Given the description of an element on the screen output the (x, y) to click on. 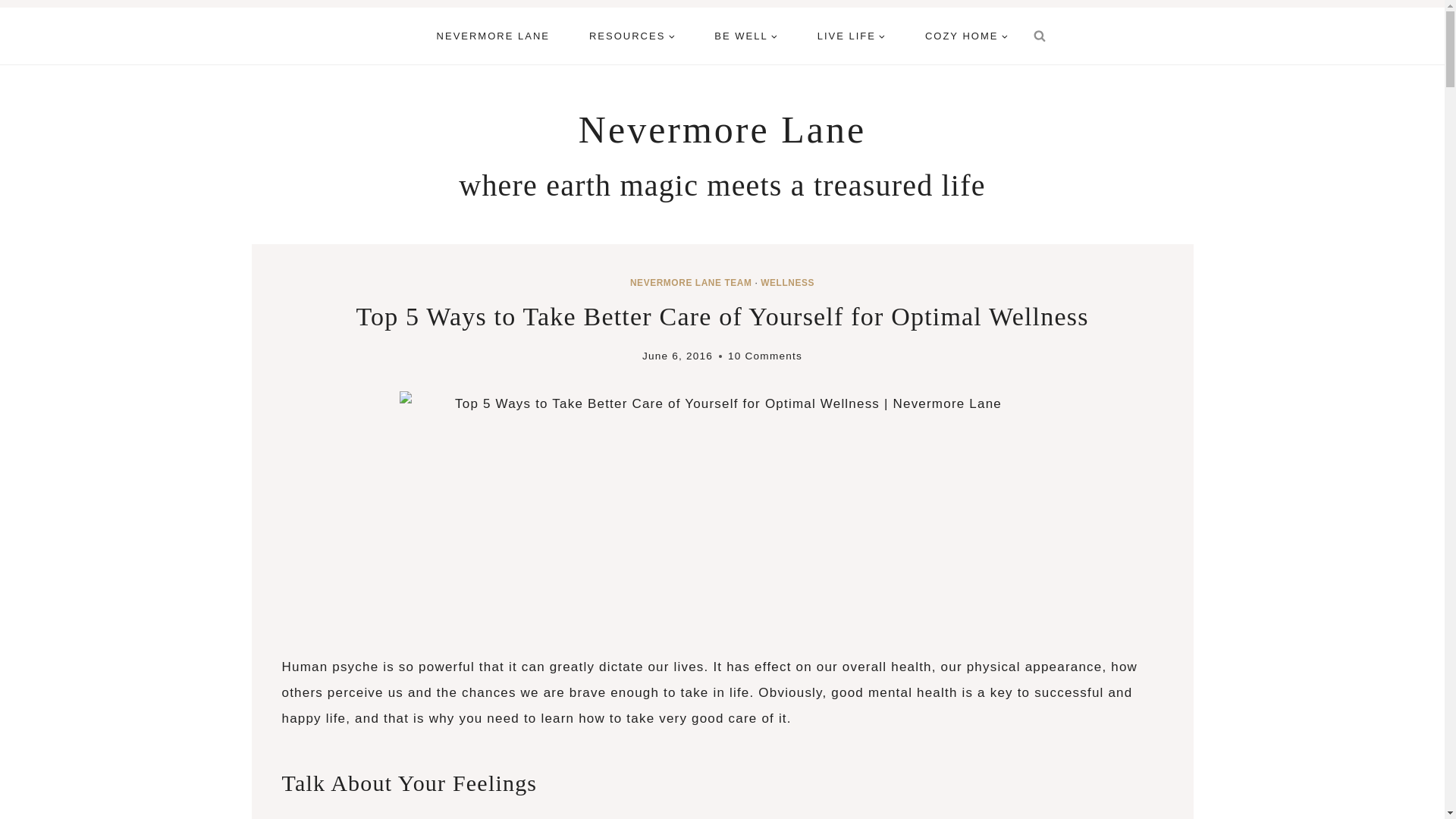
NEVERMORE LANE (492, 35)
BE WELL (745, 35)
10 Comments (765, 355)
RESOURCES (631, 35)
COZY HOME (966, 35)
LIVE LIFE (851, 35)
